Given the description of an element on the screen output the (x, y) to click on. 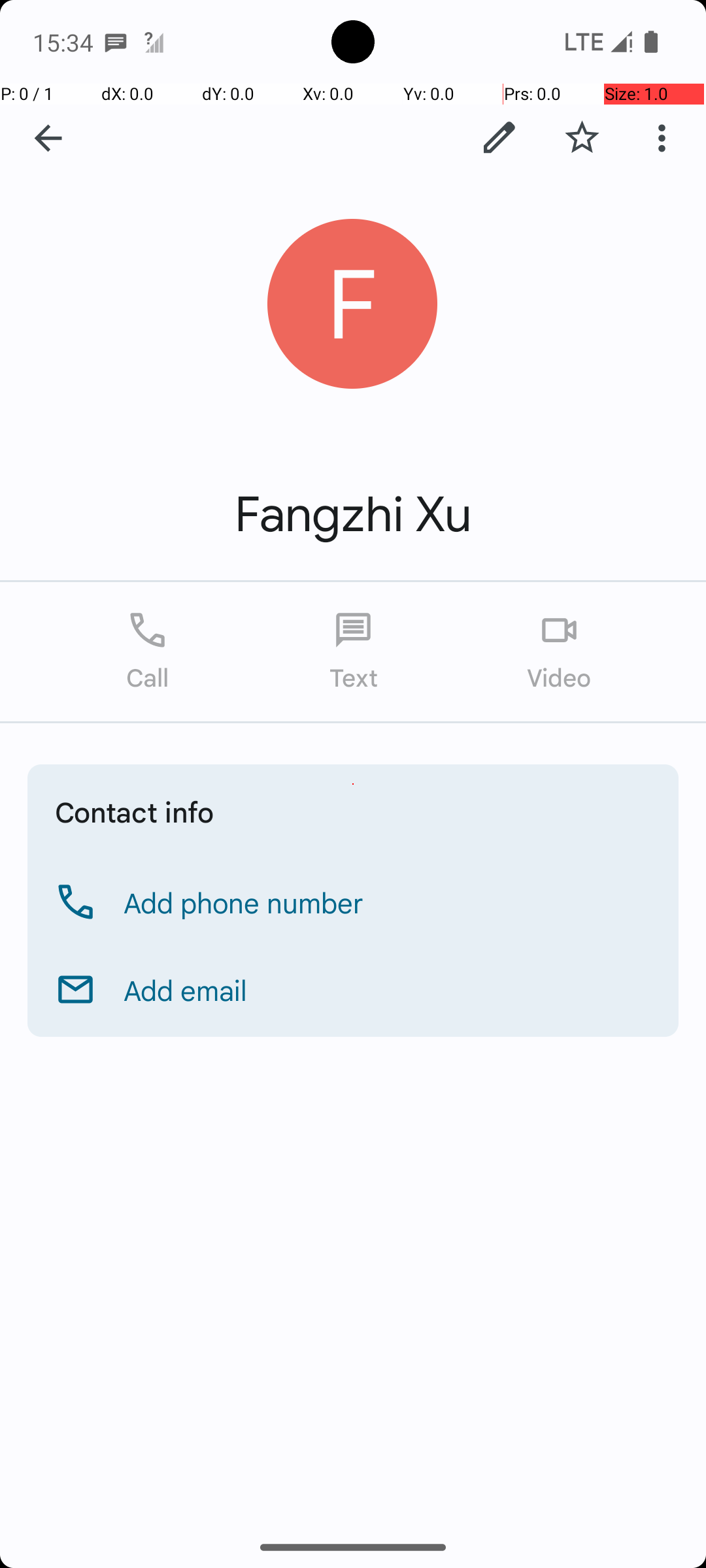
Edit contact Element type: android.widget.Button (498, 137)
Add to favorites Element type: android.widget.Button (581, 137)
Contact photo Element type: android.widget.ImageView (352, 303)
Text Element type: android.widget.TextView (353, 651)
Fangzhi Xu Element type: android.widget.TextView (352, 514)
Contact info Element type: android.widget.TextView (134, 811)
Add phone number Element type: android.widget.TextView (243, 901)
Add email Element type: android.widget.TextView (185, 989)
